Given the description of an element on the screen output the (x, y) to click on. 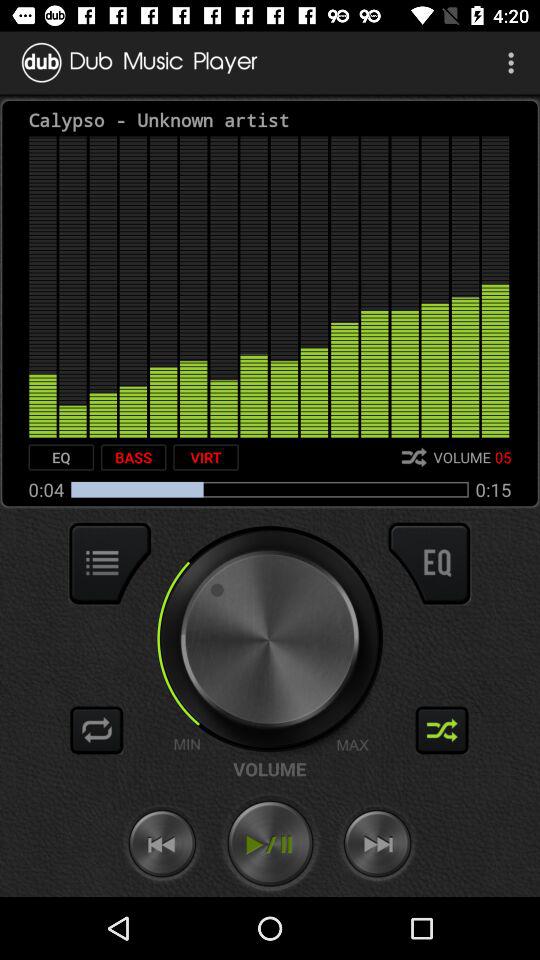
the menu bar (110, 563)
